Given the description of an element on the screen output the (x, y) to click on. 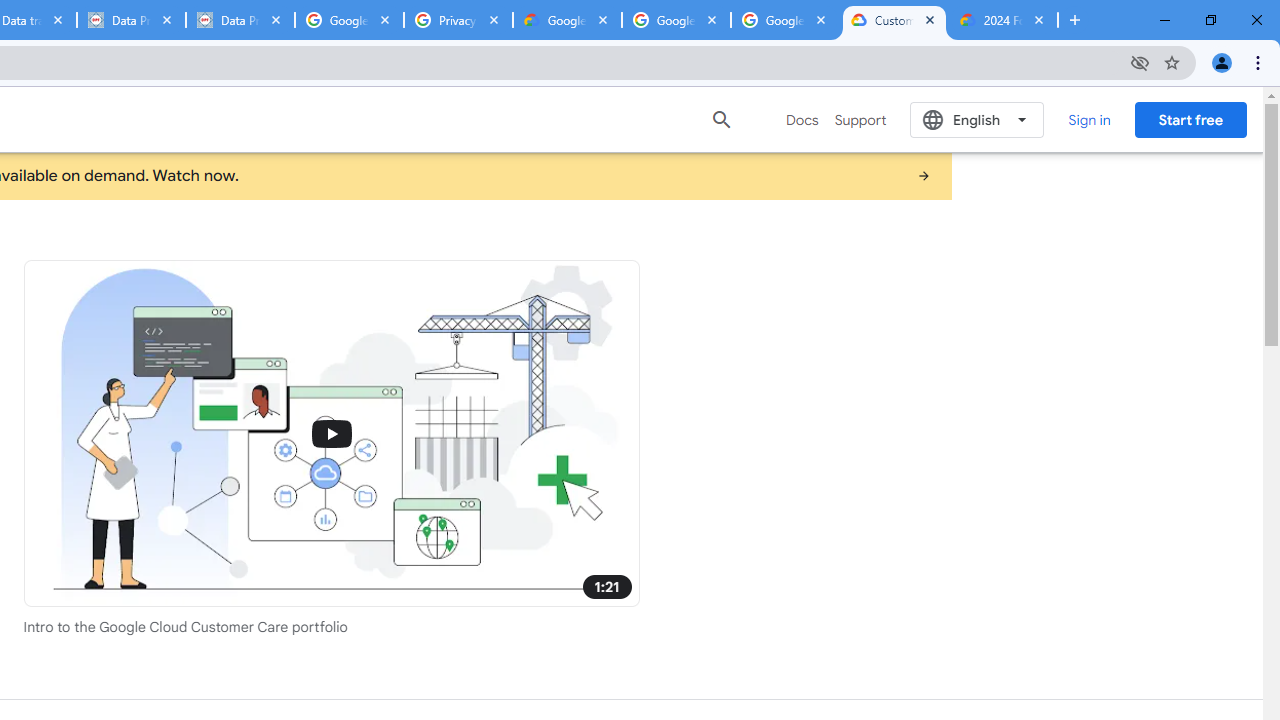
Google Workspace - Specific Terms (676, 20)
Data Privacy Framework (130, 20)
Docs (802, 119)
Start free (1190, 119)
Google Cloud Terms Directory | Google Cloud (567, 20)
